Given the description of an element on the screen output the (x, y) to click on. 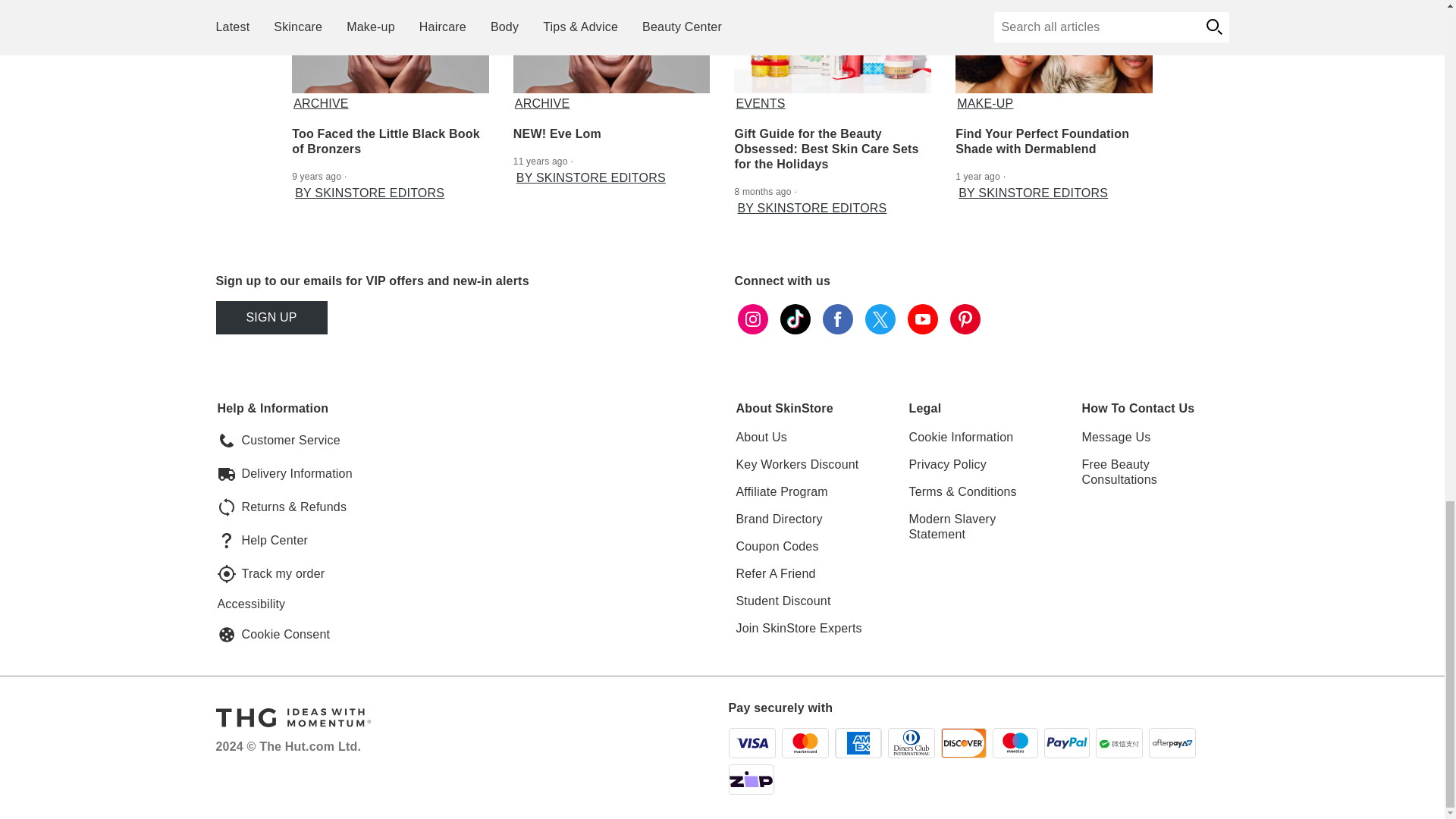
tiktok (794, 319)
facebook (837, 319)
twitter (879, 319)
instagram (751, 319)
